Given the description of an element on the screen output the (x, y) to click on. 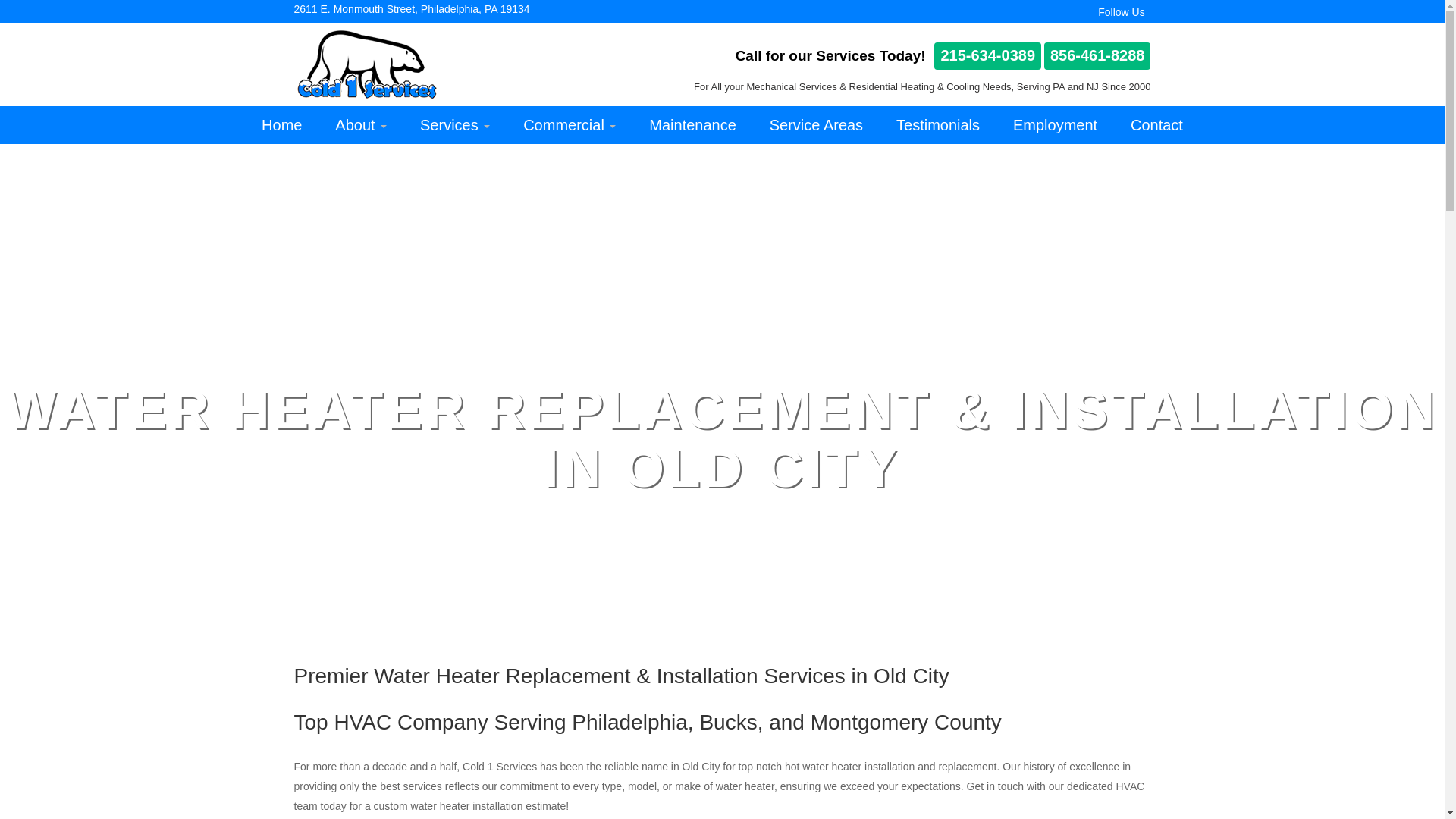
Commercial (569, 125)
Service Areas (815, 125)
heater installation (480, 806)
Employment (1054, 125)
heater installation (872, 766)
Montgomery County (905, 721)
Contact (1156, 125)
215-634-0389 (987, 55)
Testimonials (937, 125)
Home (281, 125)
Commercial (569, 125)
Service Areas (815, 125)
Maintenance (692, 125)
856-461-8288 (1097, 55)
Old City (911, 675)
